Given the description of an element on the screen output the (x, y) to click on. 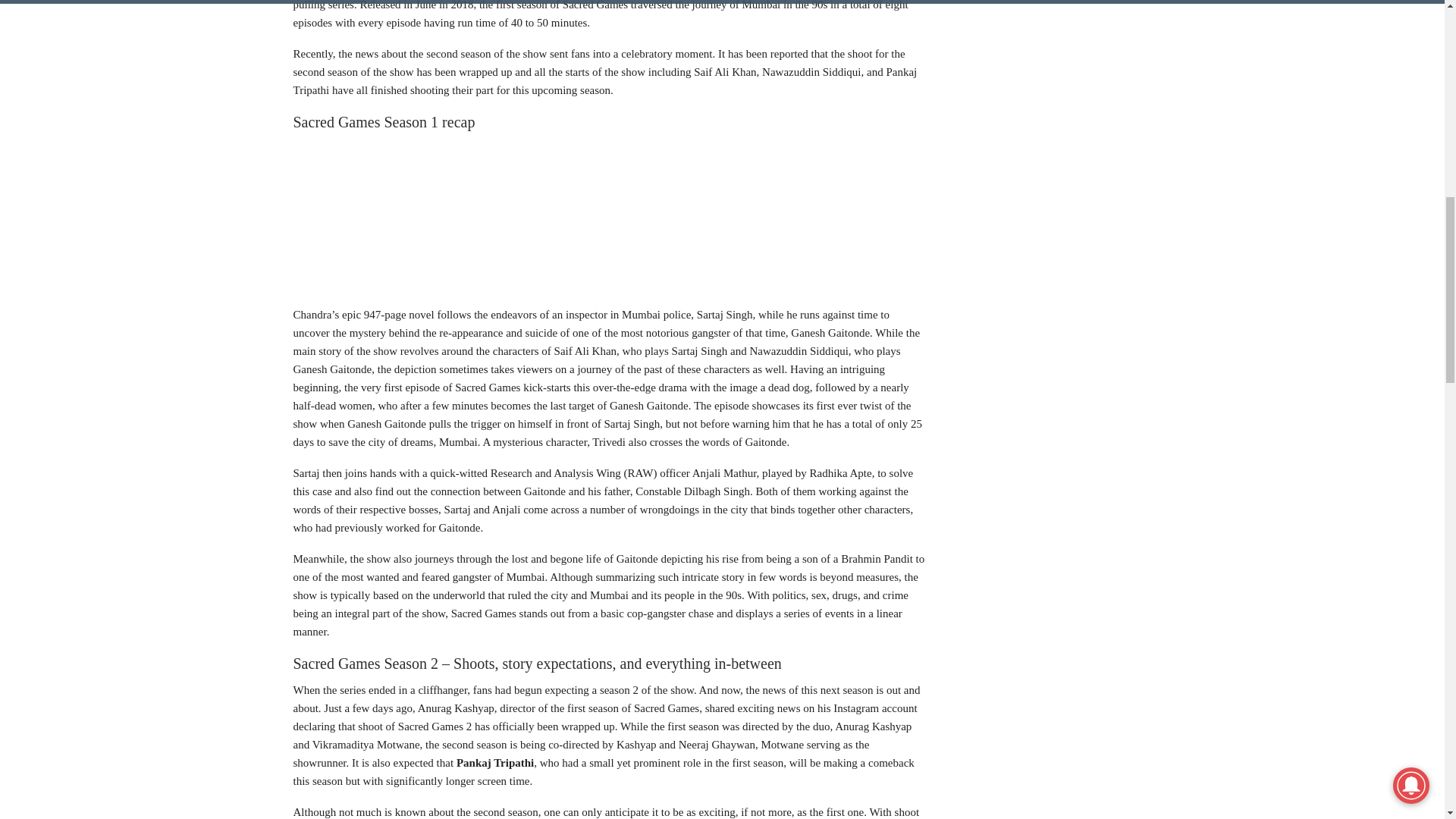
Advertisement (609, 215)
